Given the description of an element on the screen output the (x, y) to click on. 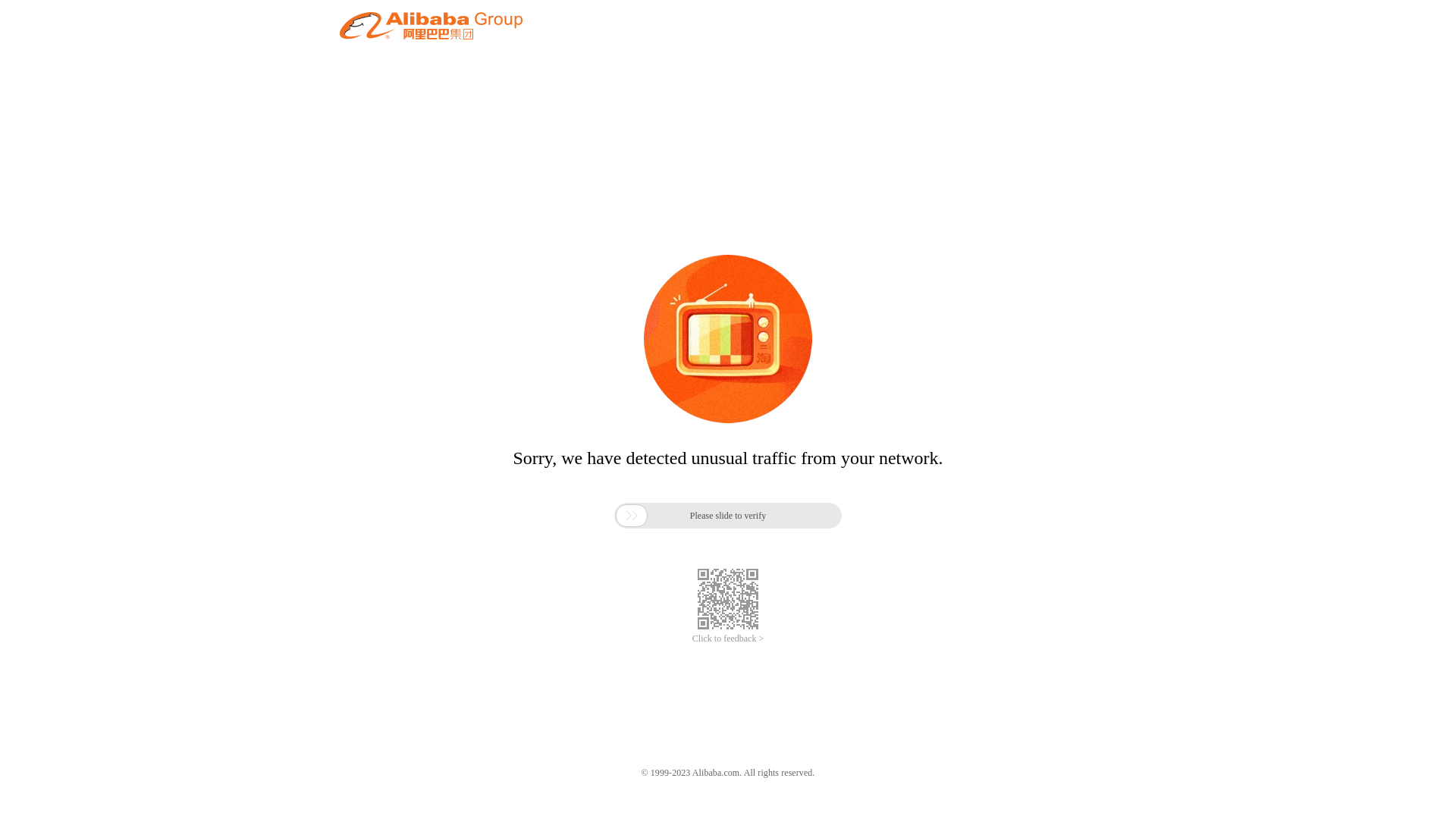
Click to feedback > Element type: text (727, 638)
